Given the description of an element on the screen output the (x, y) to click on. 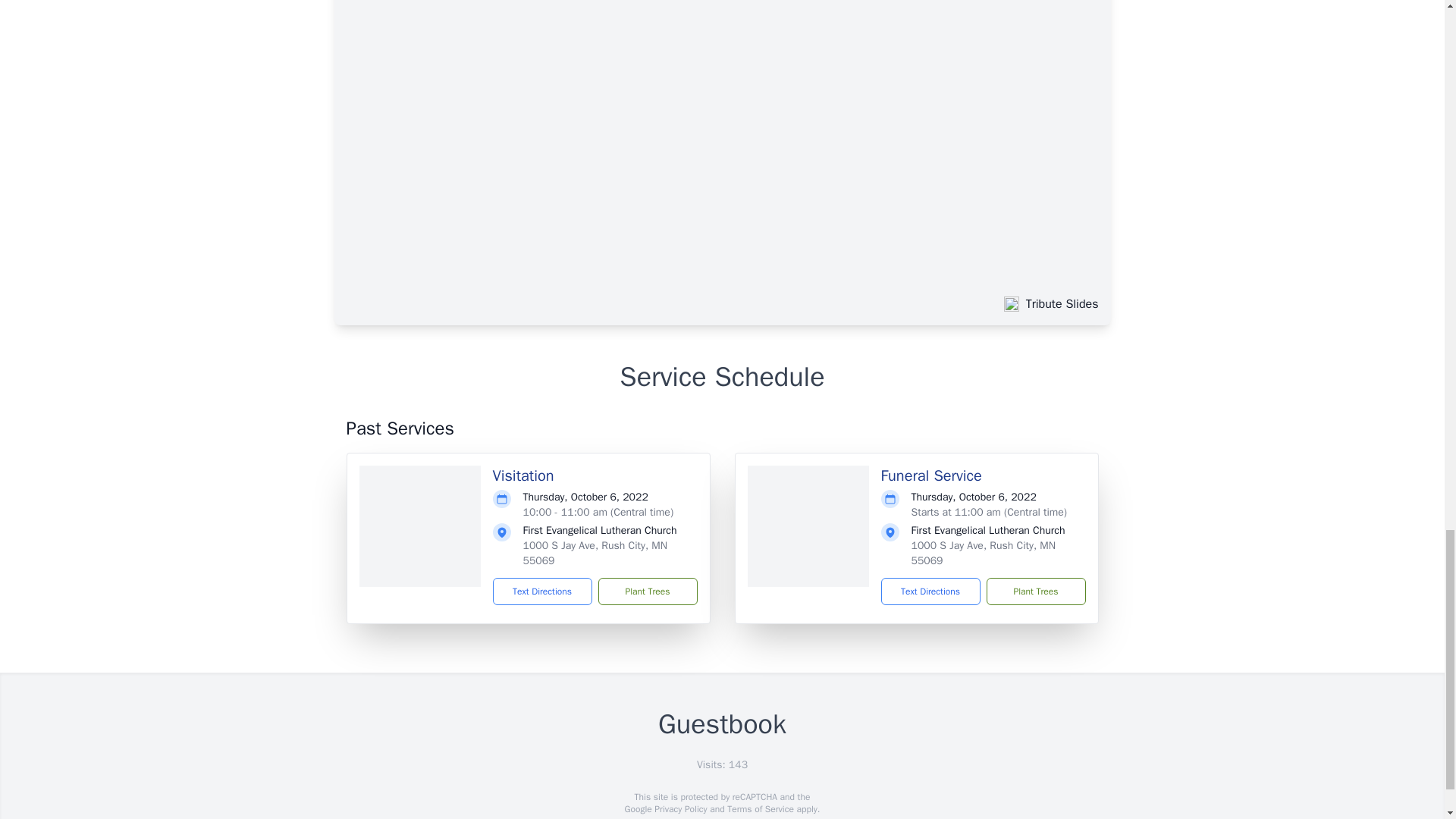
Privacy Policy (679, 808)
1000 S Jay Ave, Rush City, MN 55069 (983, 552)
Terms of Service (759, 808)
Text Directions (929, 591)
Text Directions (542, 591)
1000 S Jay Ave, Rush City, MN 55069 (594, 552)
Plant Trees (646, 591)
Plant Trees (1034, 591)
